Given the description of an element on the screen output the (x, y) to click on. 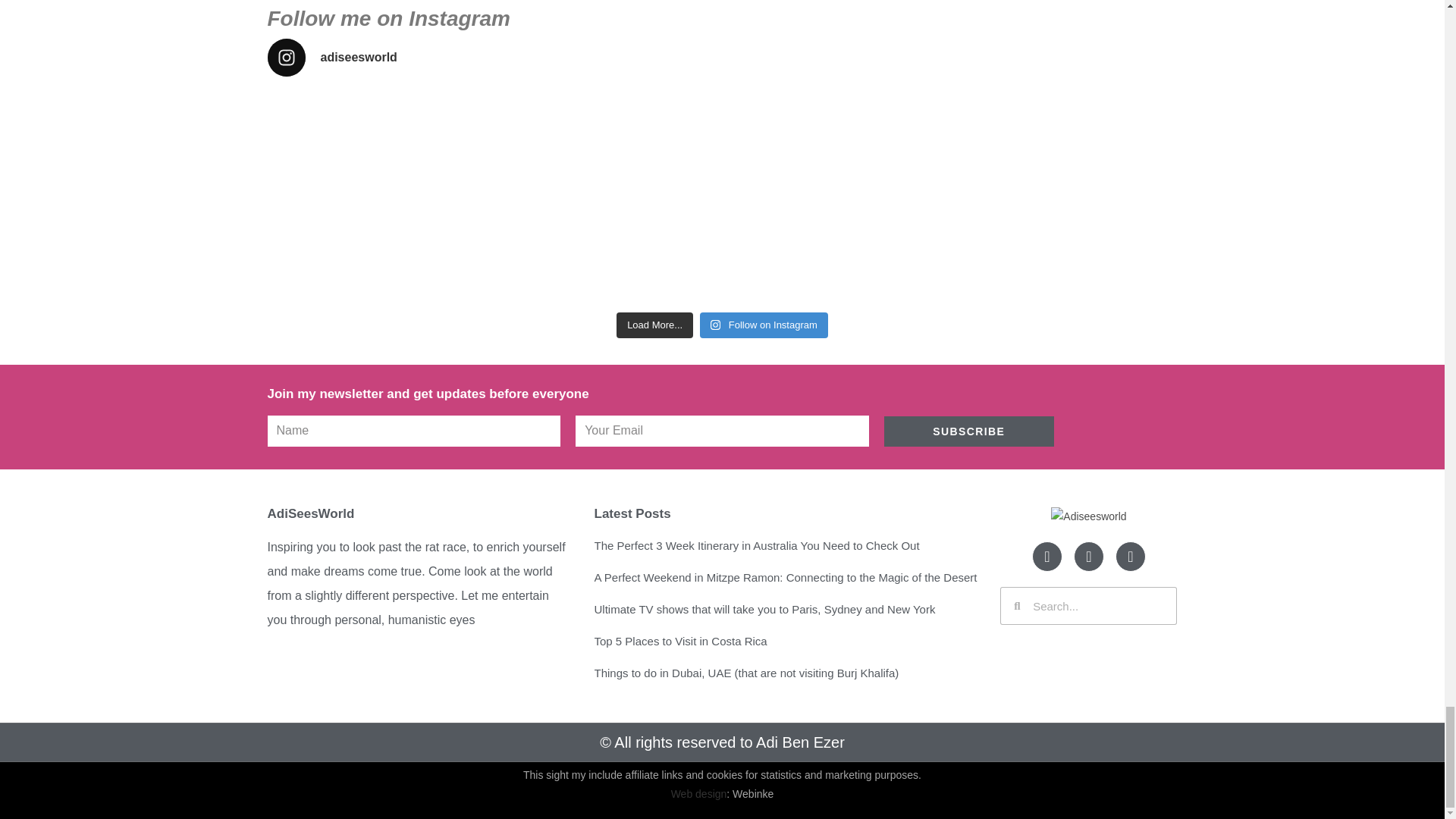
Adiseesworld (1088, 516)
